Given the description of an element on the screen output the (x, y) to click on. 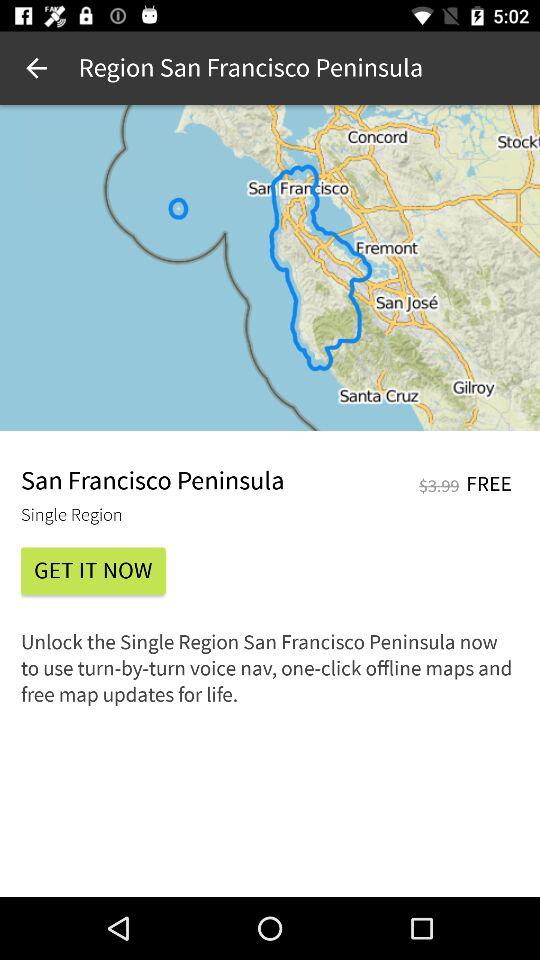
swipe until the unlock the single icon (270, 674)
